Given the description of an element on the screen output the (x, y) to click on. 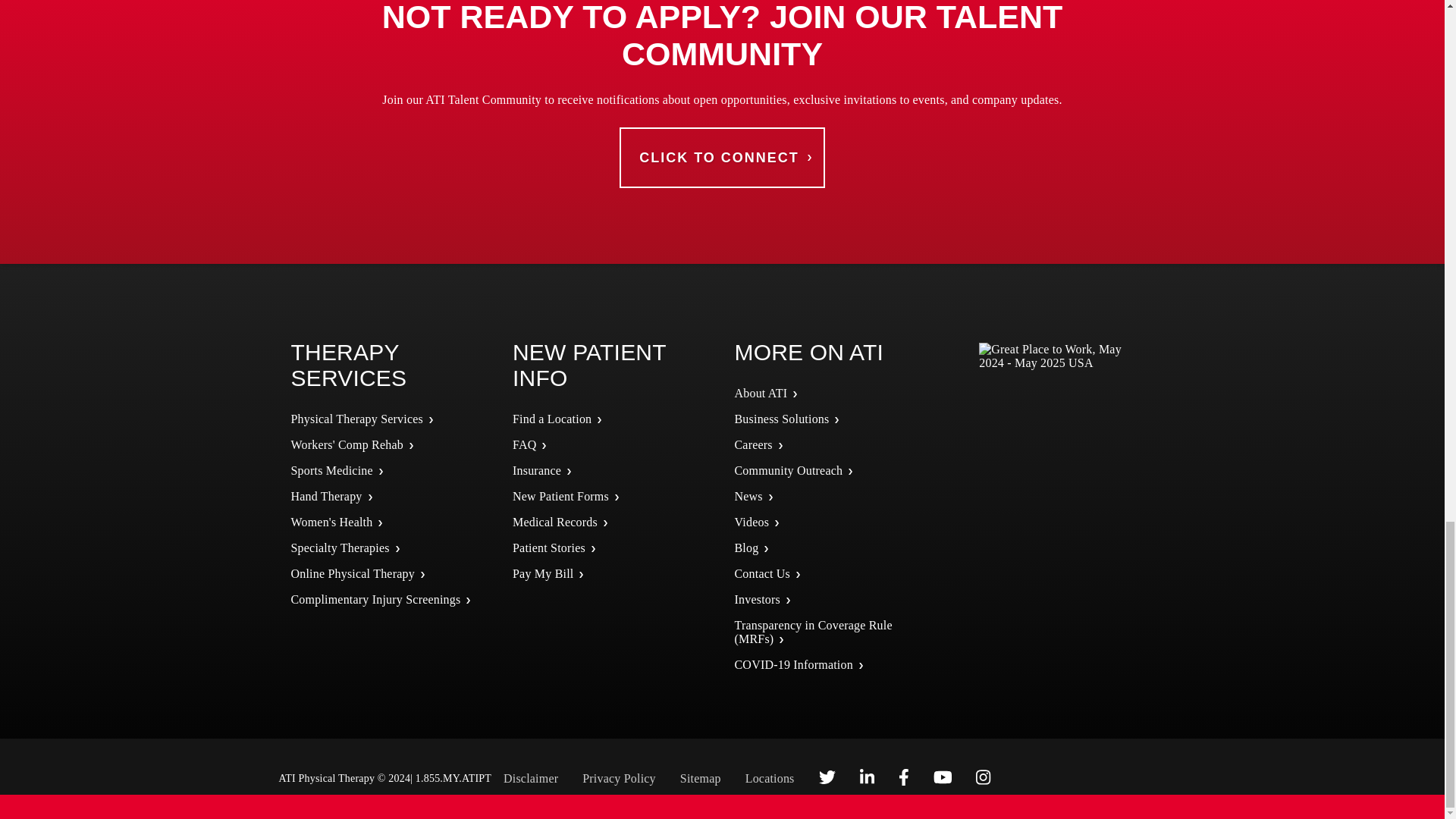
FAQ (523, 444)
Find a Location (551, 419)
Hand Therapy (326, 496)
Specialty Therapies (340, 548)
Pay My Bill (542, 574)
Patient Stories (548, 548)
Sports Medicine (331, 470)
New Patient Forms (560, 496)
Insurance (536, 470)
Complimentary Injury Screenings (376, 599)
